Given the description of an element on the screen output the (x, y) to click on. 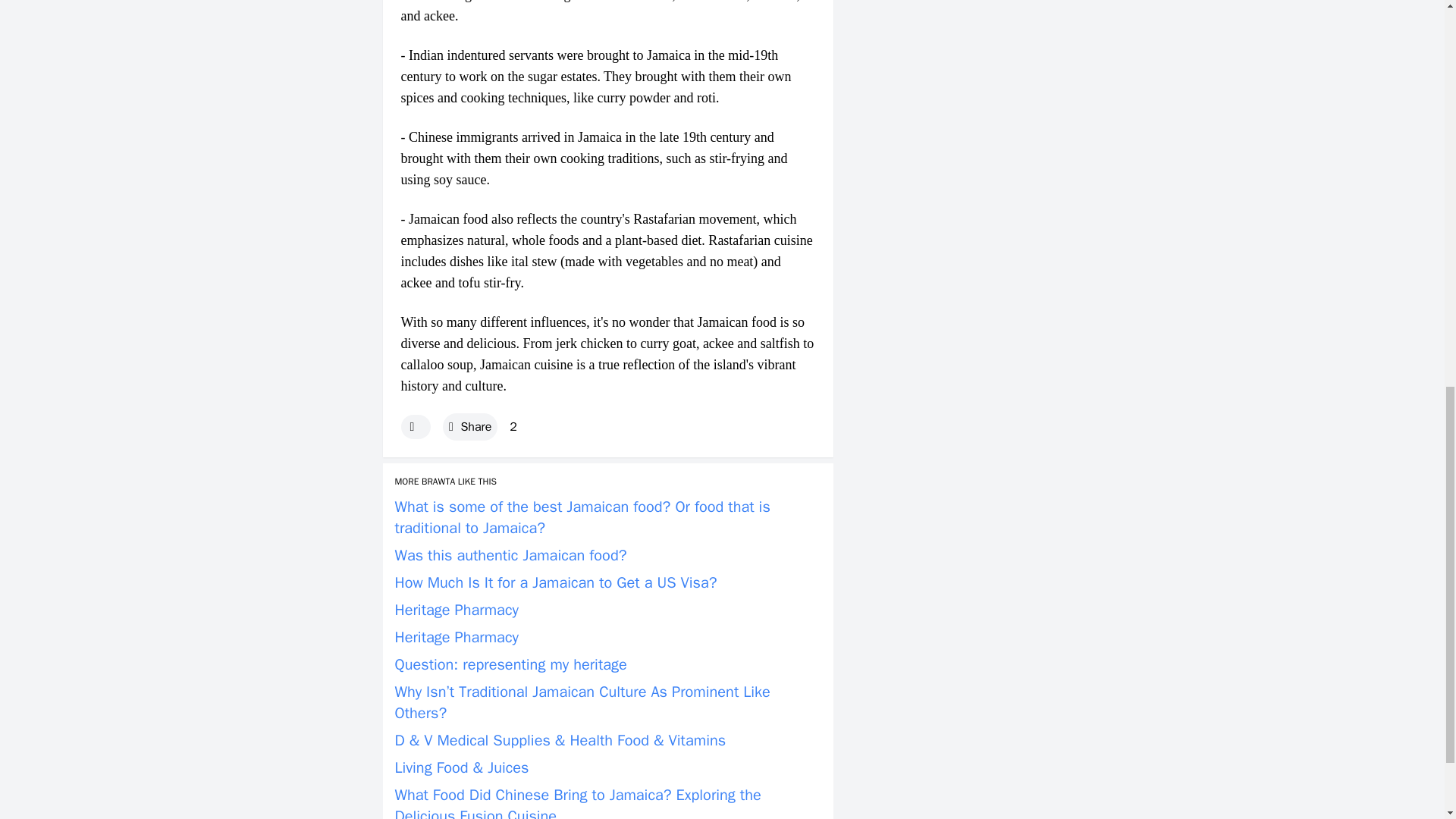
Heritage Pharmacy (456, 609)
How Much Is It for a Jamaican to Get a US Visa? (555, 582)
Heritage Pharmacy (456, 637)
 Share (469, 426)
Question: representing my heritage (510, 664)
Like (414, 426)
Share (469, 426)
Was this authentic Jamaican food? (510, 555)
